Given the description of an element on the screen output the (x, y) to click on. 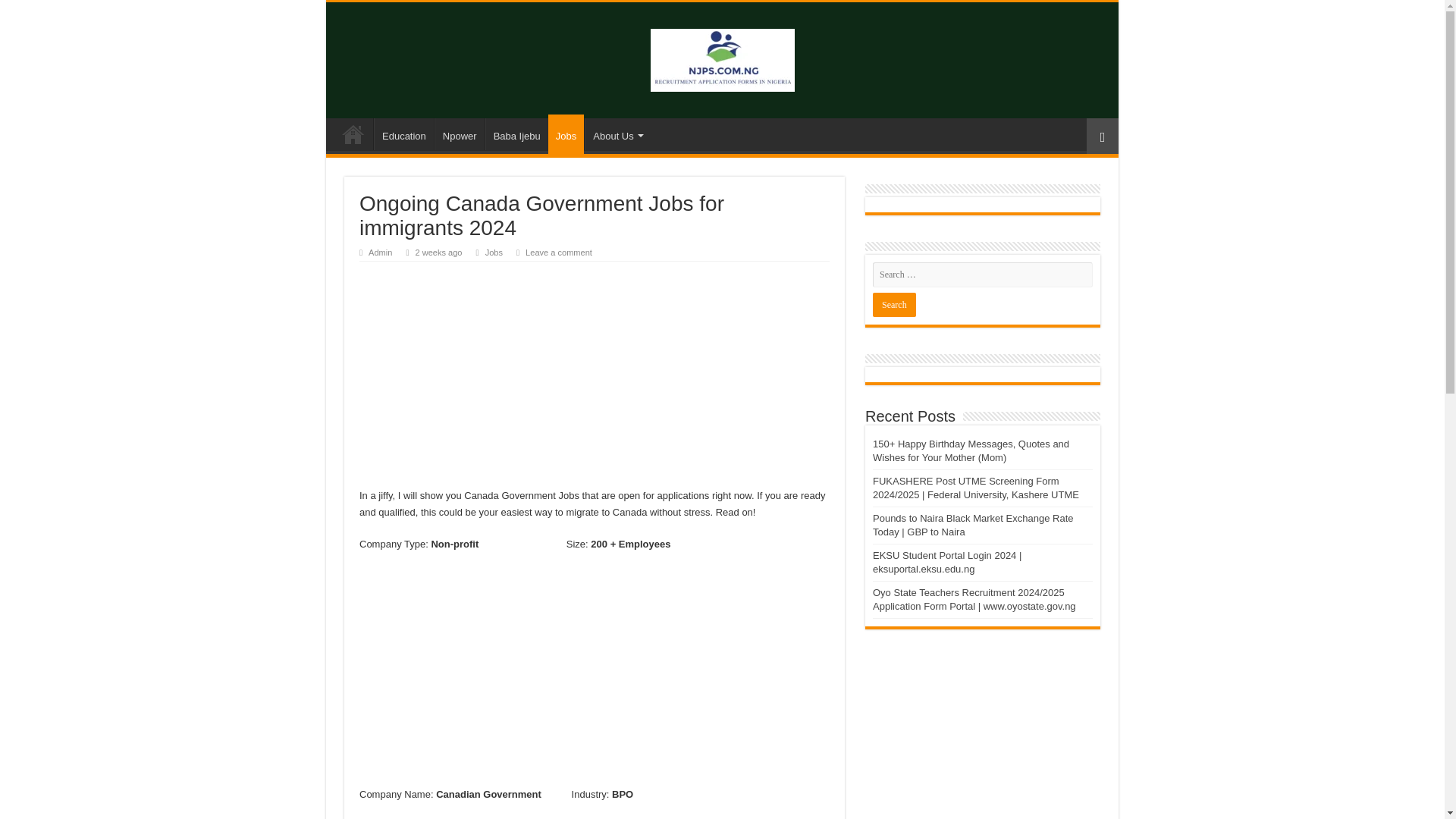
Baba Ijebu (516, 133)
Admin (379, 252)
Education (403, 133)
Leave a comment (558, 252)
Jobs (565, 133)
Advertisement (594, 674)
Search (893, 304)
About Us (616, 133)
Search (893, 304)
Npower (458, 133)
Search (893, 304)
Jobs (493, 252)
NJPS.COM.NG (722, 57)
Home (352, 133)
Advertisement (594, 375)
